Given the description of an element on the screen output the (x, y) to click on. 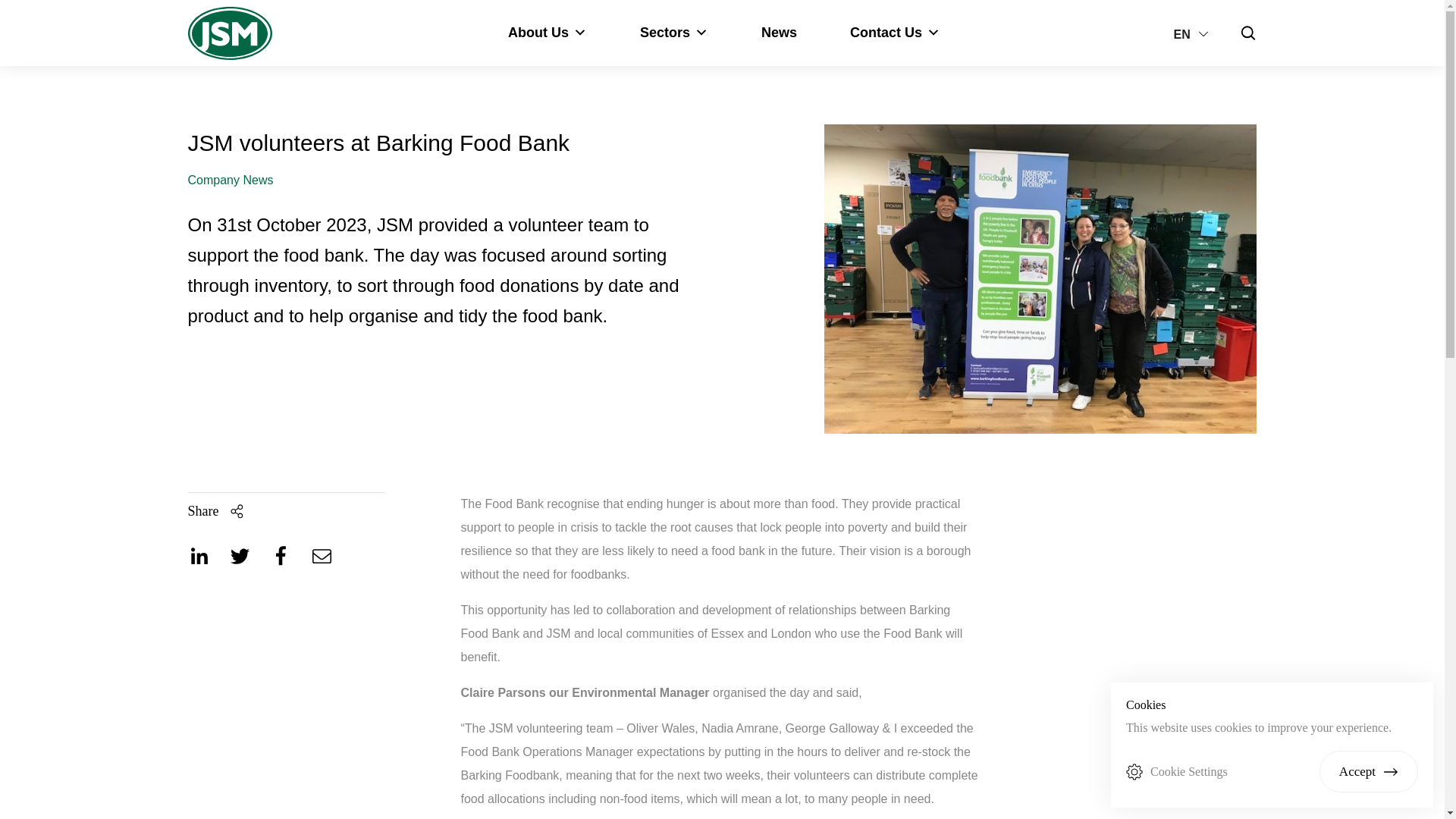
News (779, 33)
Sectors (673, 33)
About Us (546, 33)
English (1193, 33)
Contact Us (895, 33)
